Given the description of an element on the screen output the (x, y) to click on. 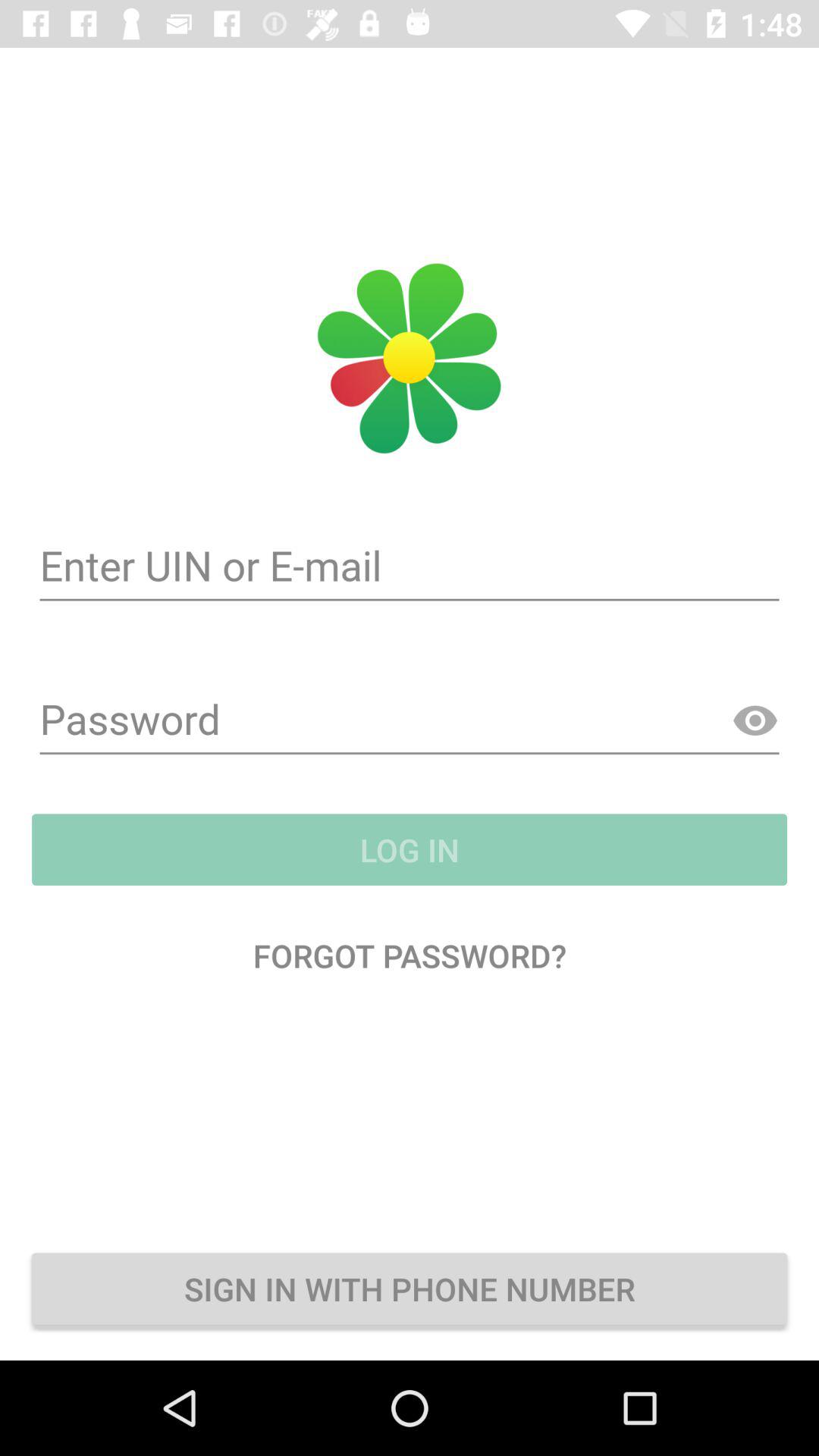
scroll to the forgot password? icon (409, 955)
